Given the description of an element on the screen output the (x, y) to click on. 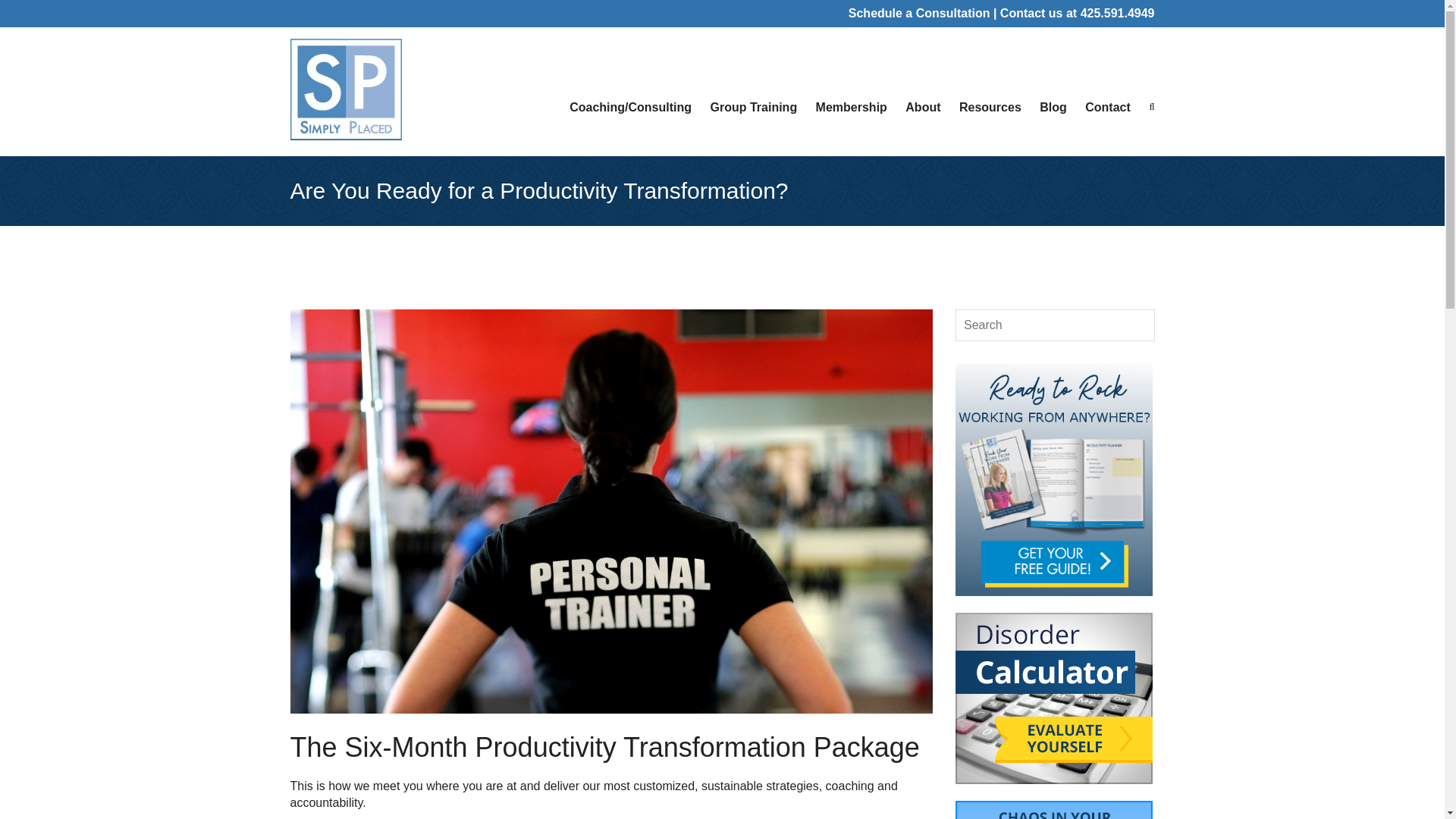
Blog (1049, 107)
Resources (987, 107)
About (919, 107)
Search (27, 12)
425.591.4949 (1117, 12)
Consultation (952, 12)
Membership (847, 107)
Contact (1104, 107)
Group Training (748, 107)
